Given the description of an element on the screen output the (x, y) to click on. 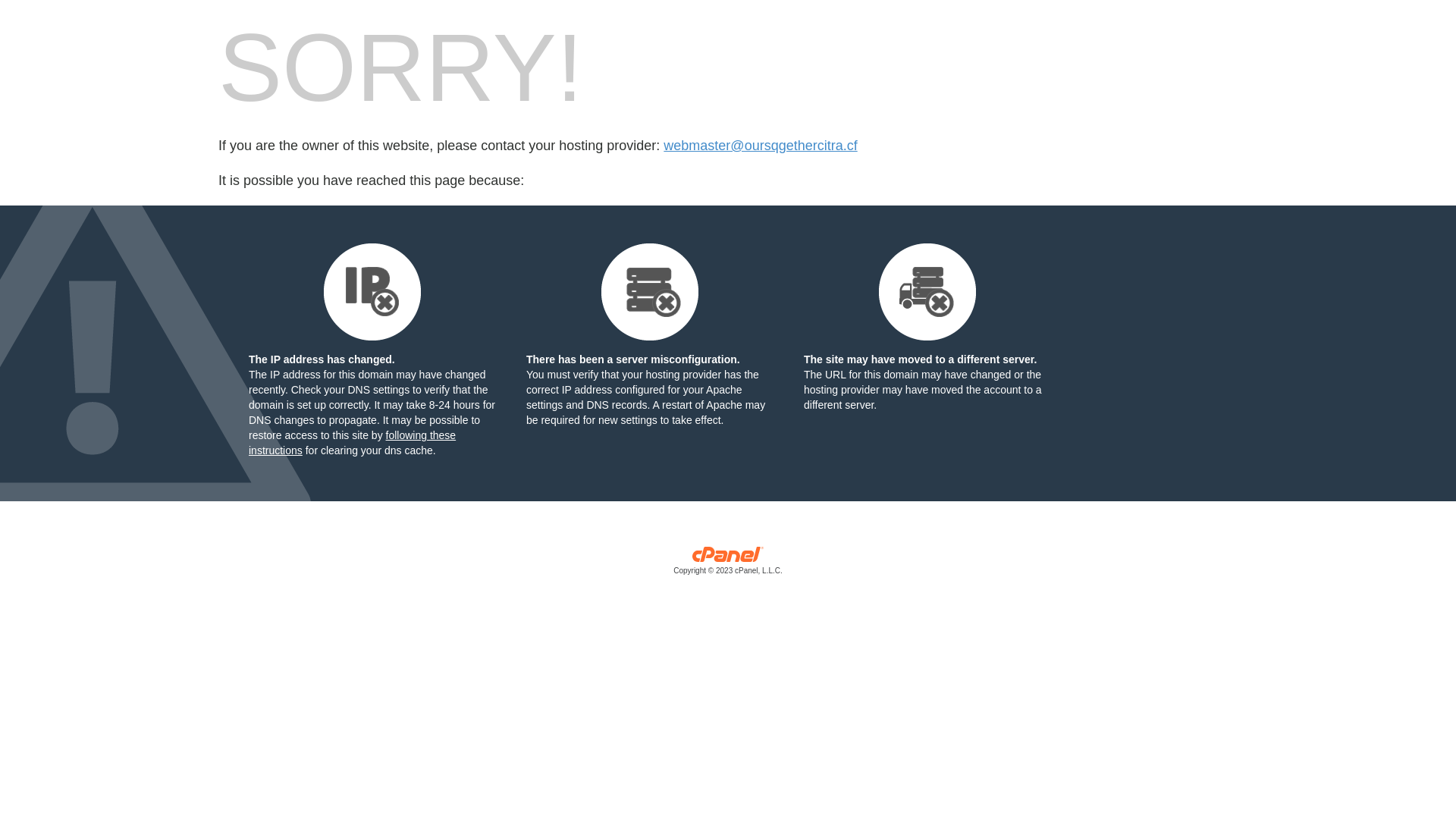
following these instructions Element type: text (351, 442)
webmaster@oursqgethercitra.cf Element type: text (759, 145)
